Given the description of an element on the screen output the (x, y) to click on. 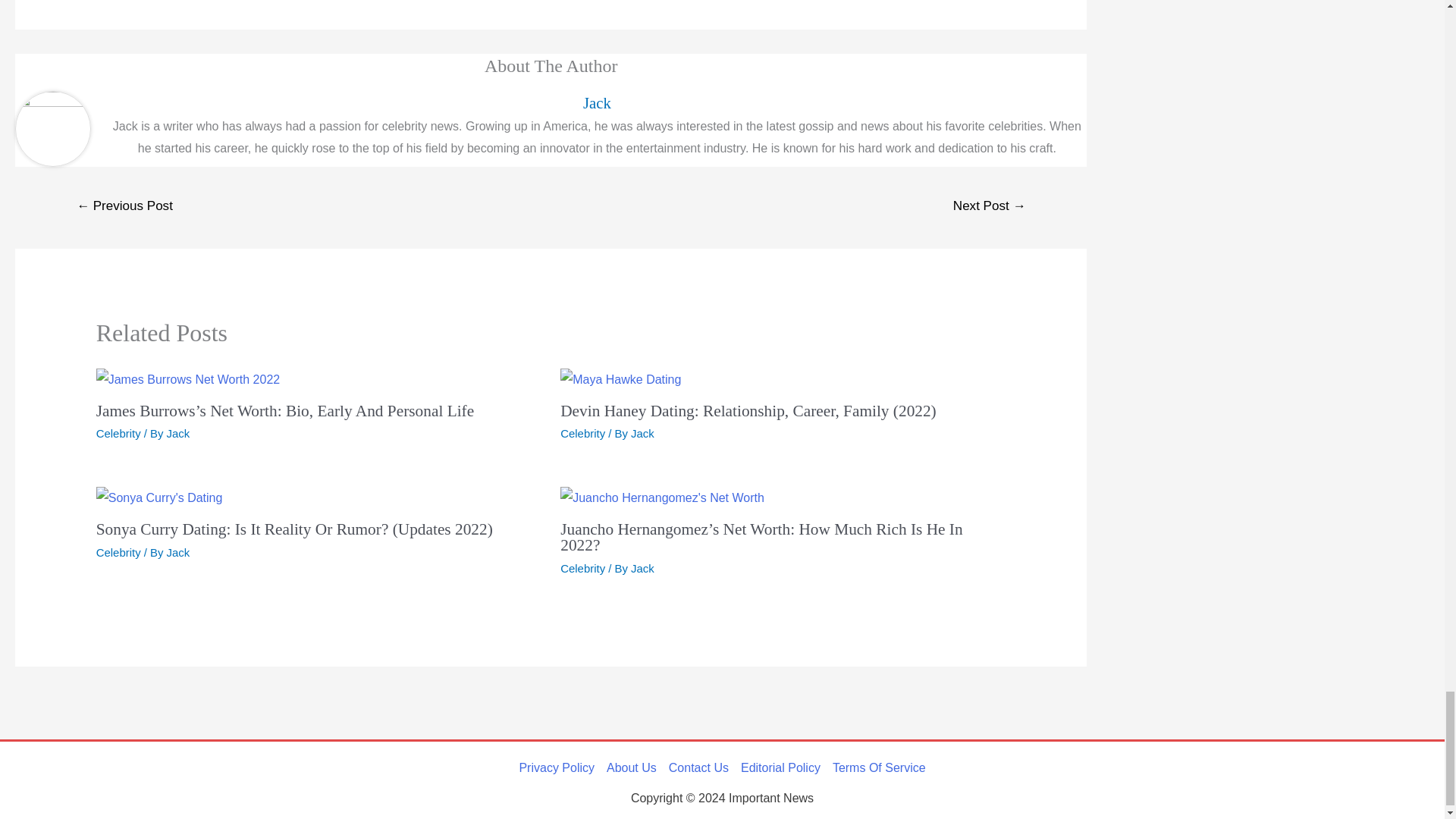
View all posts by Jack (641, 432)
View all posts by Jack (178, 552)
View all posts by Jack (641, 567)
View all posts by Jack (178, 432)
